Given the description of an element on the screen output the (x, y) to click on. 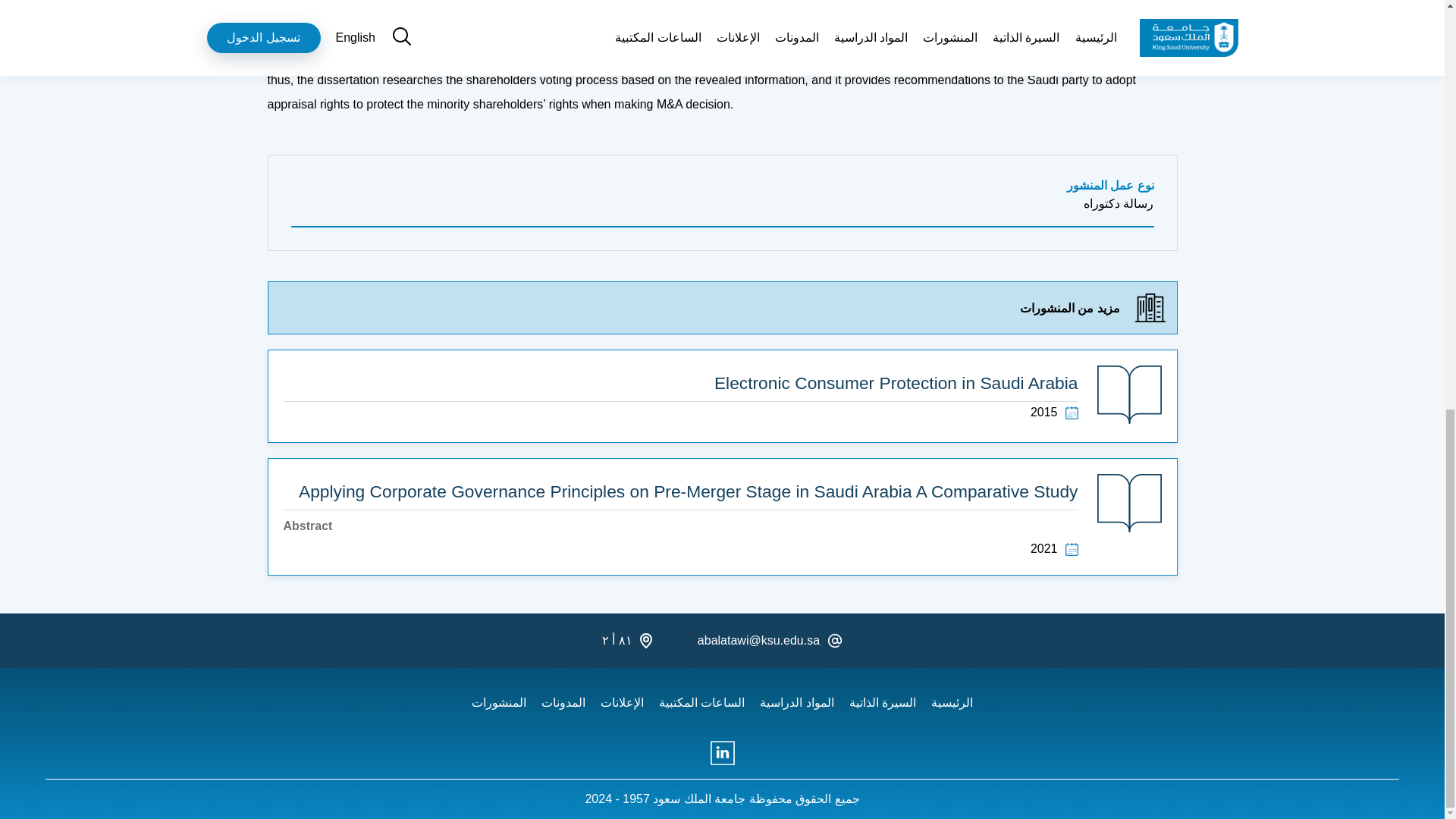
Linked In (721, 752)
Electronic Consumer Protection in Saudi Arabia (680, 383)
